Given the description of an element on the screen output the (x, y) to click on. 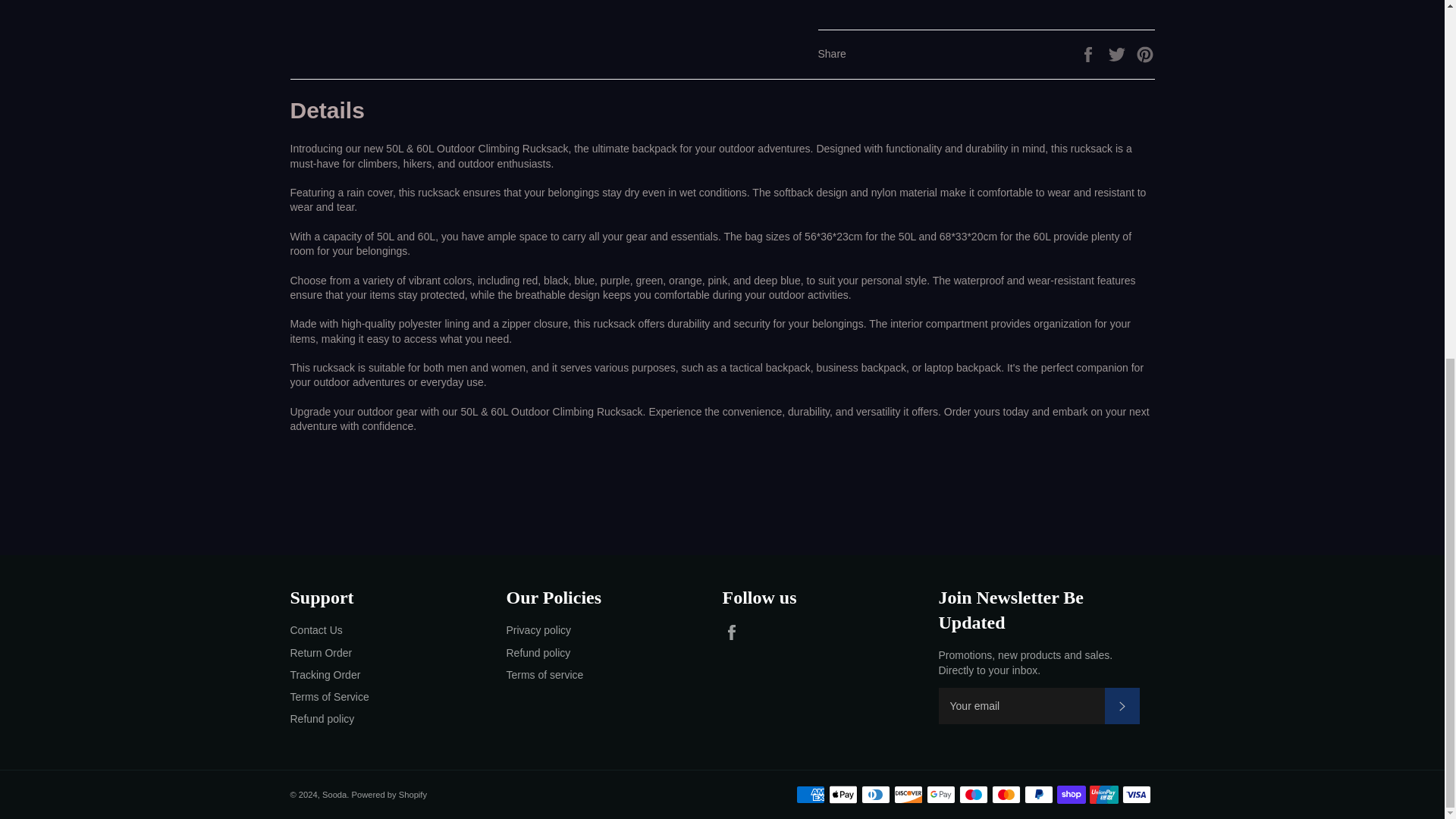
Sooda on Facebook (735, 632)
Tweet on Twitter (1118, 52)
Share on Facebook (1089, 52)
Pin on Pinterest (1144, 52)
